Given the description of an element on the screen output the (x, y) to click on. 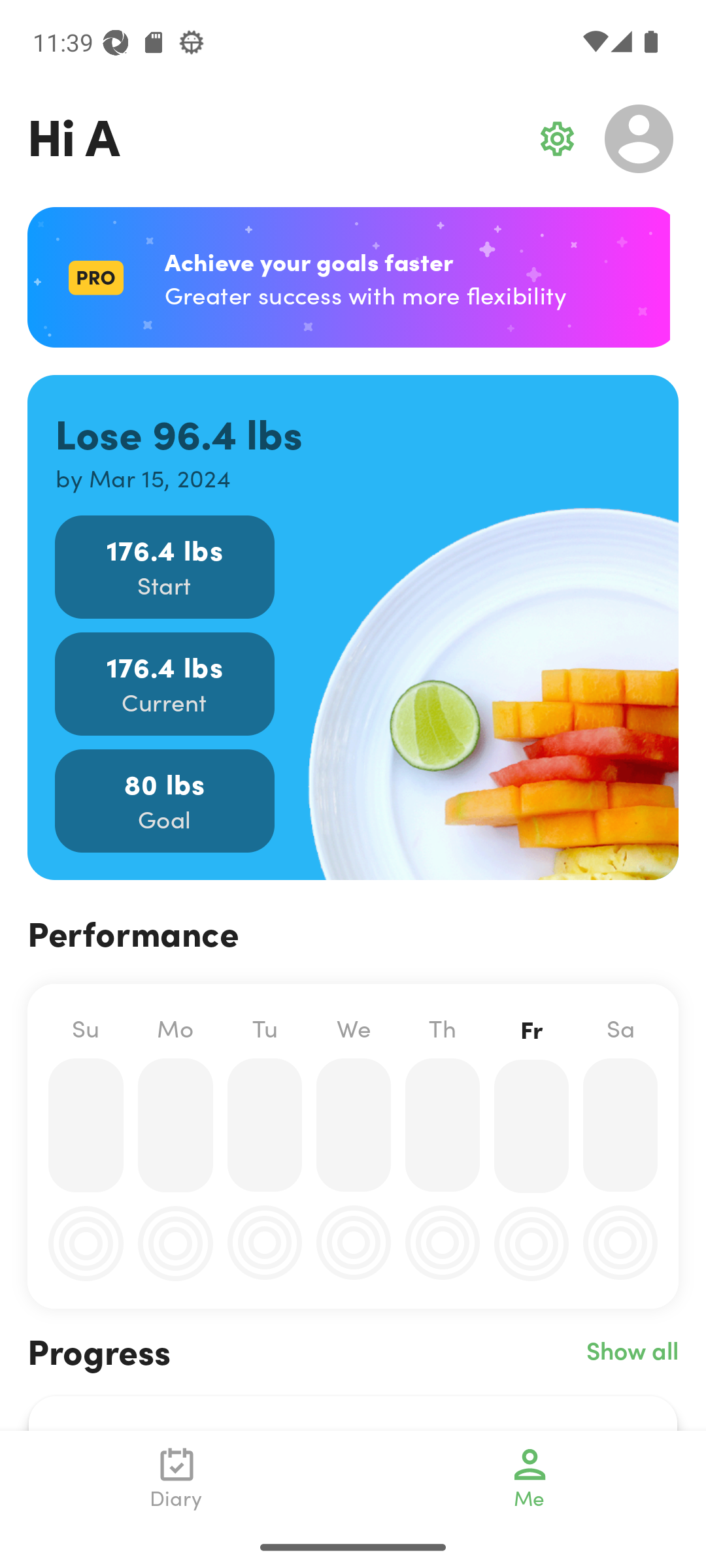
settings_action (556, 138)
profile_photo_action (638, 138)
Diary navigation_icon (176, 1478)
